Given the description of an element on the screen output the (x, y) to click on. 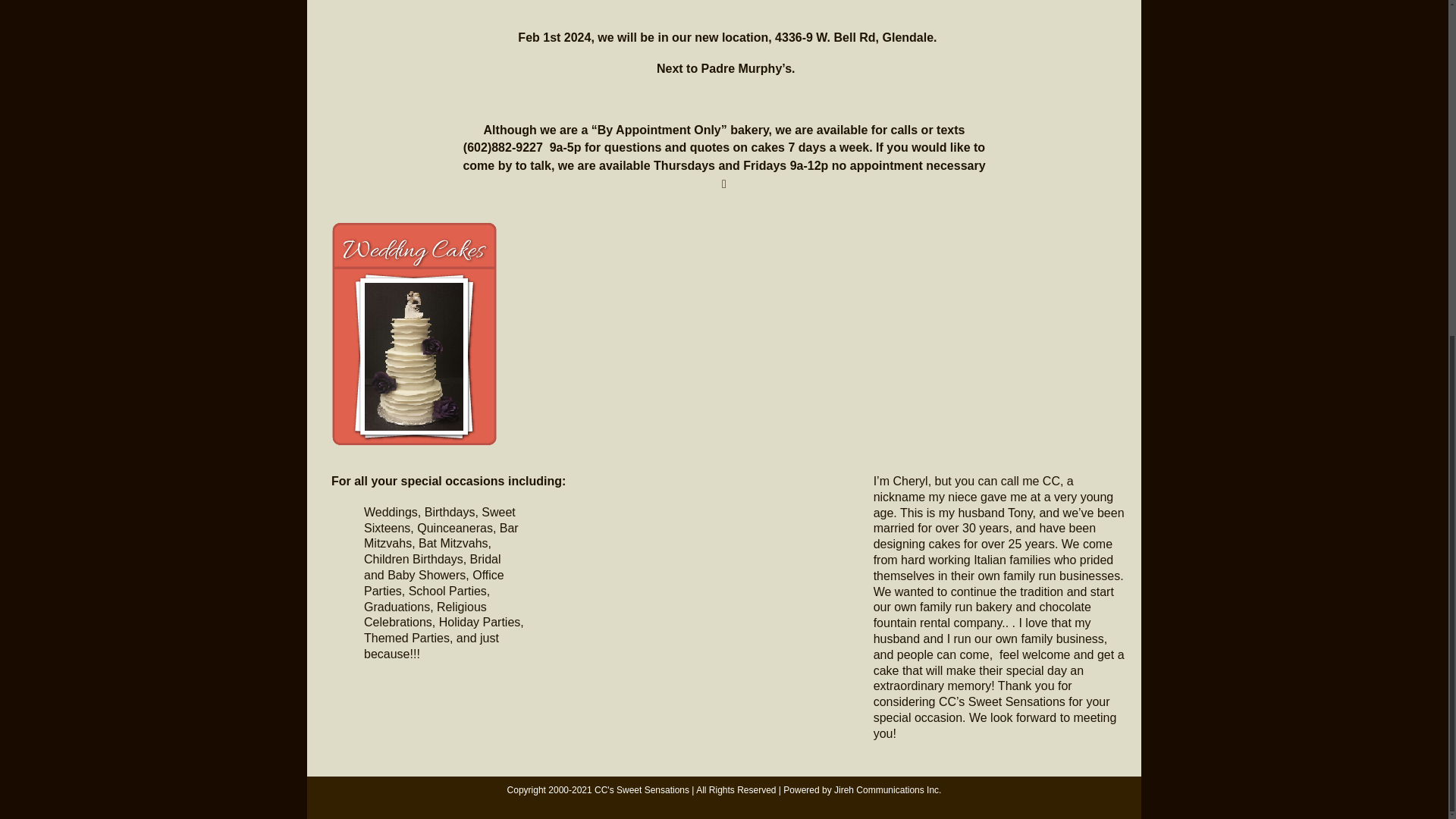
Candy Buffets (1033, 305)
Chocolate Fountains (827, 305)
Jireh Communications Inc. (887, 789)
